Given the description of an element on the screen output the (x, y) to click on. 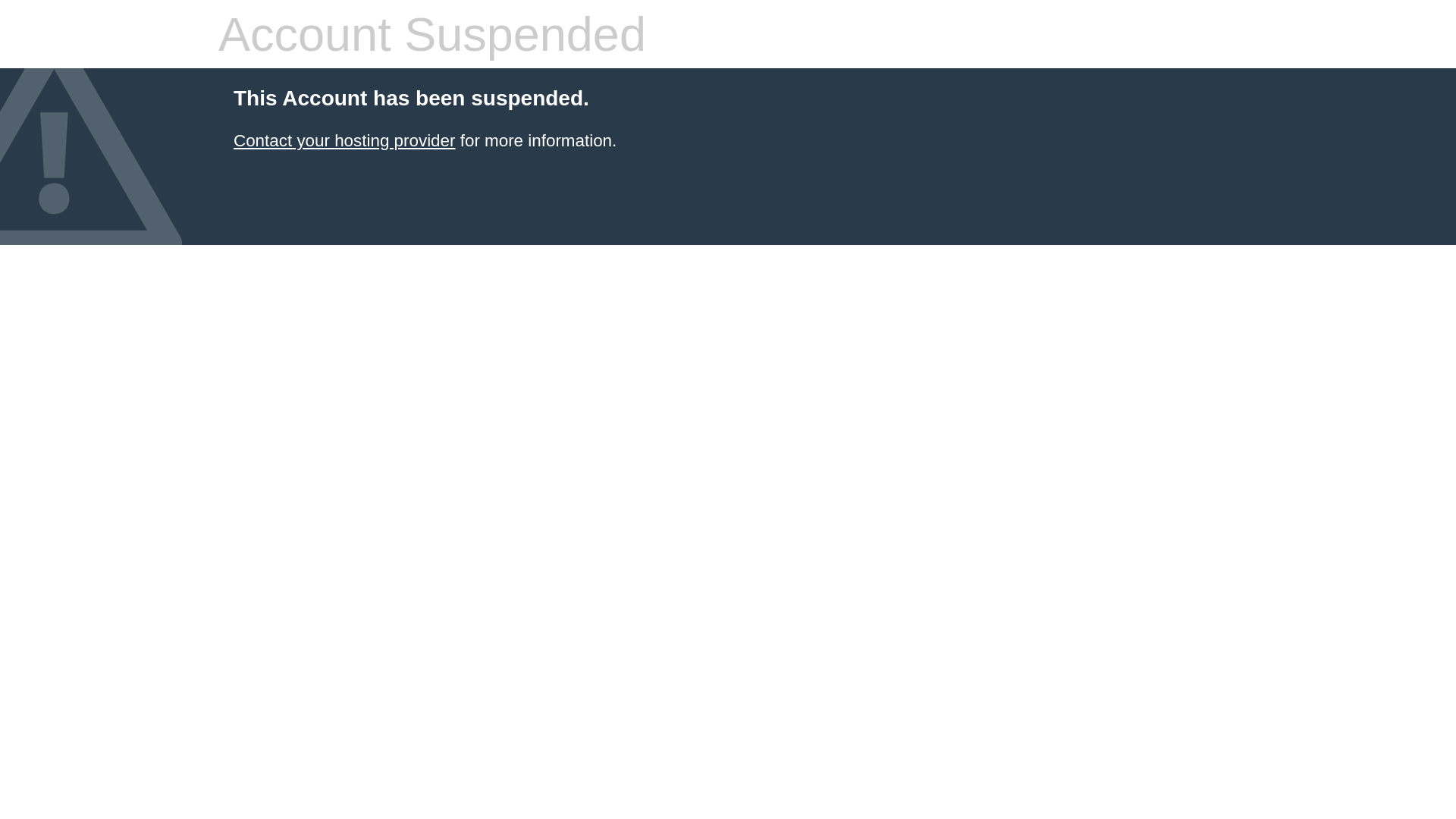
Contact your hosting provider Element type: text (344, 140)
